Given the description of an element on the screen output the (x, y) to click on. 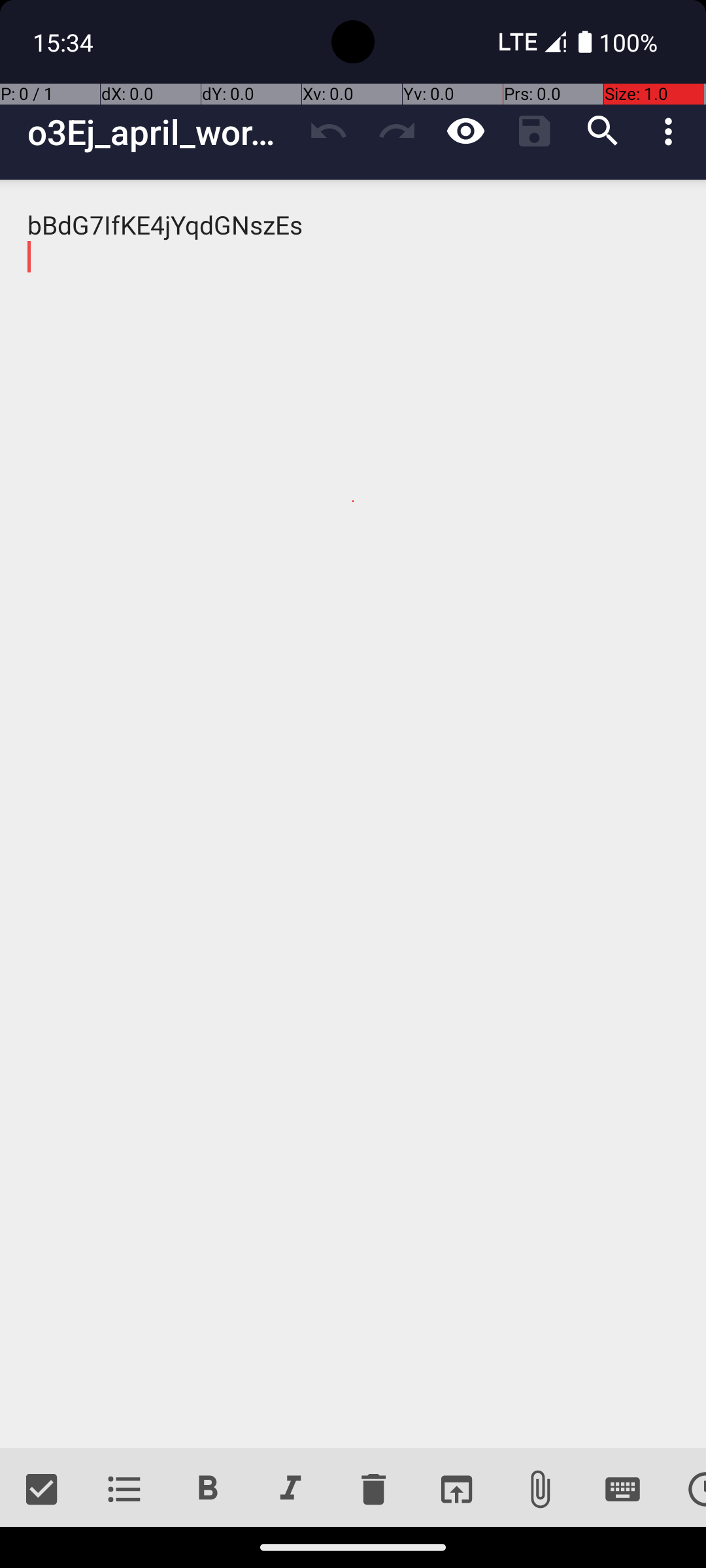
o3Ej_april_workout_routine Element type: android.widget.TextView (160, 131)
bBdG7IfKE4jYqdGNszEs
 Element type: android.widget.EditText (353, 813)
